Given the description of an element on the screen output the (x, y) to click on. 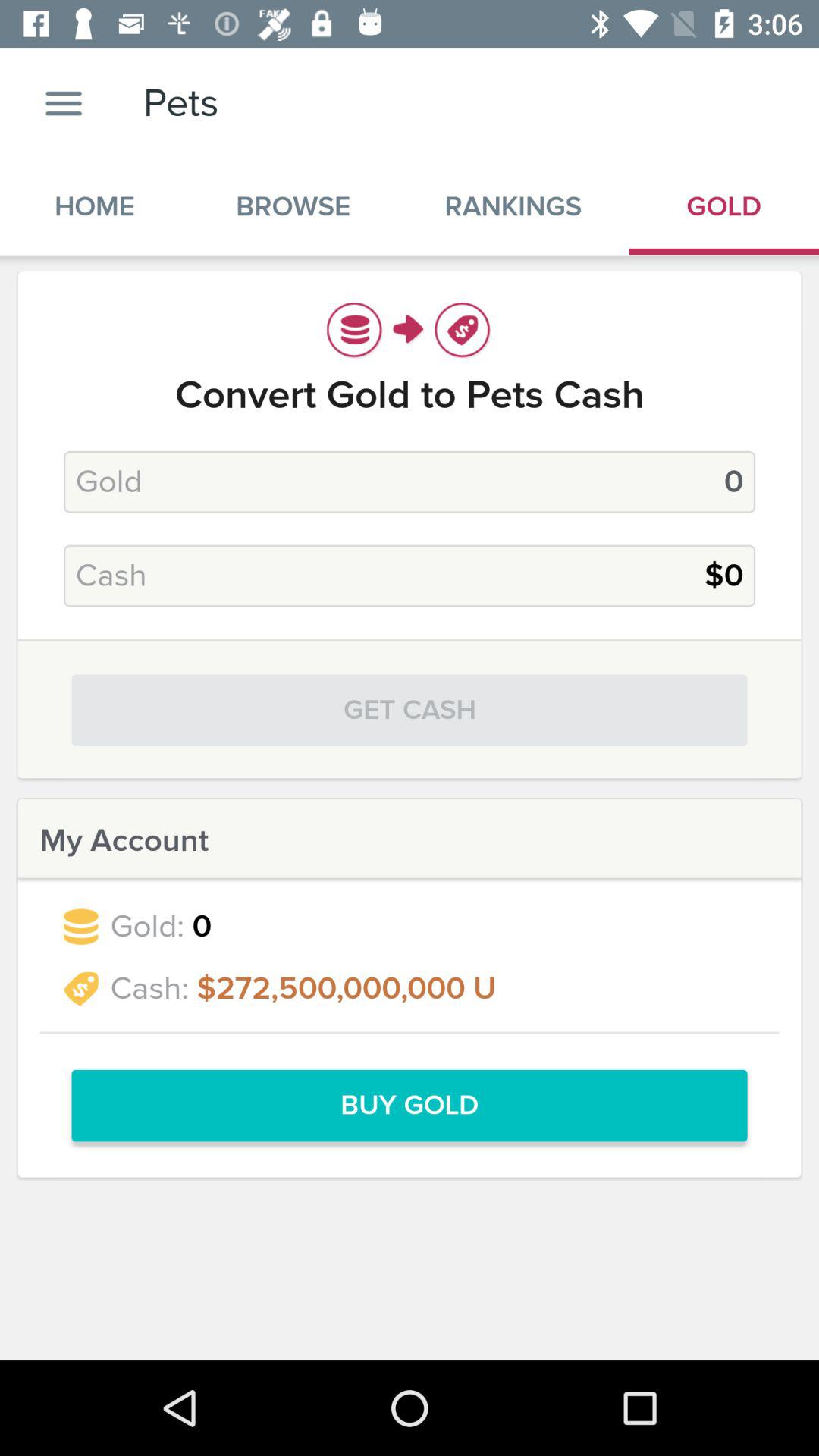
open icon above the my account item (409, 710)
